Given the description of an element on the screen output the (x, y) to click on. 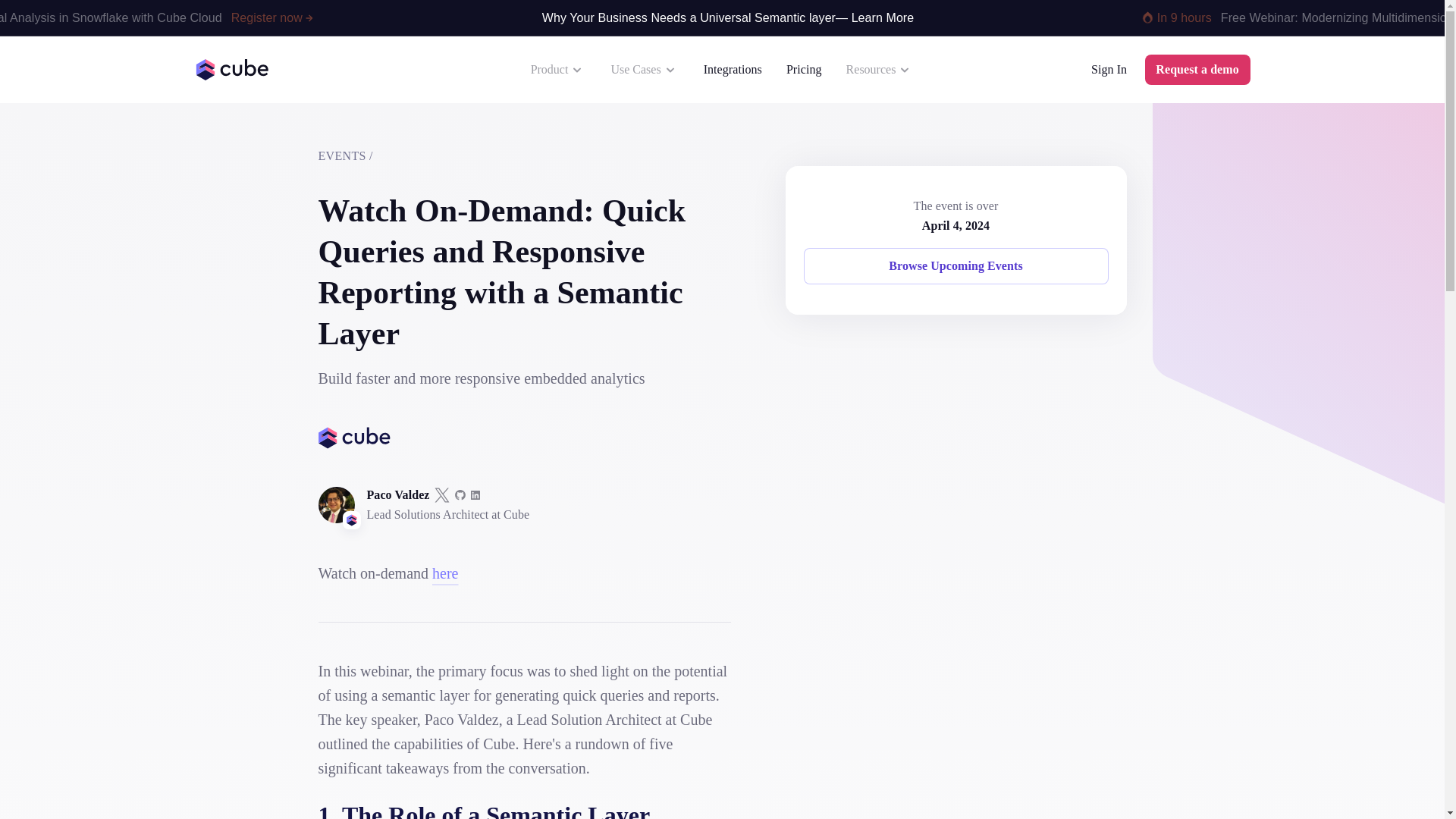
Resources (880, 69)
Paco Valdez (397, 495)
here (445, 573)
Integrations (732, 69)
Product (558, 69)
Pricing (804, 69)
Browse Upcoming Events (955, 266)
Request a demo (1197, 69)
Use Cases (644, 69)
Sign In (1109, 69)
